Given the description of an element on the screen output the (x, y) to click on. 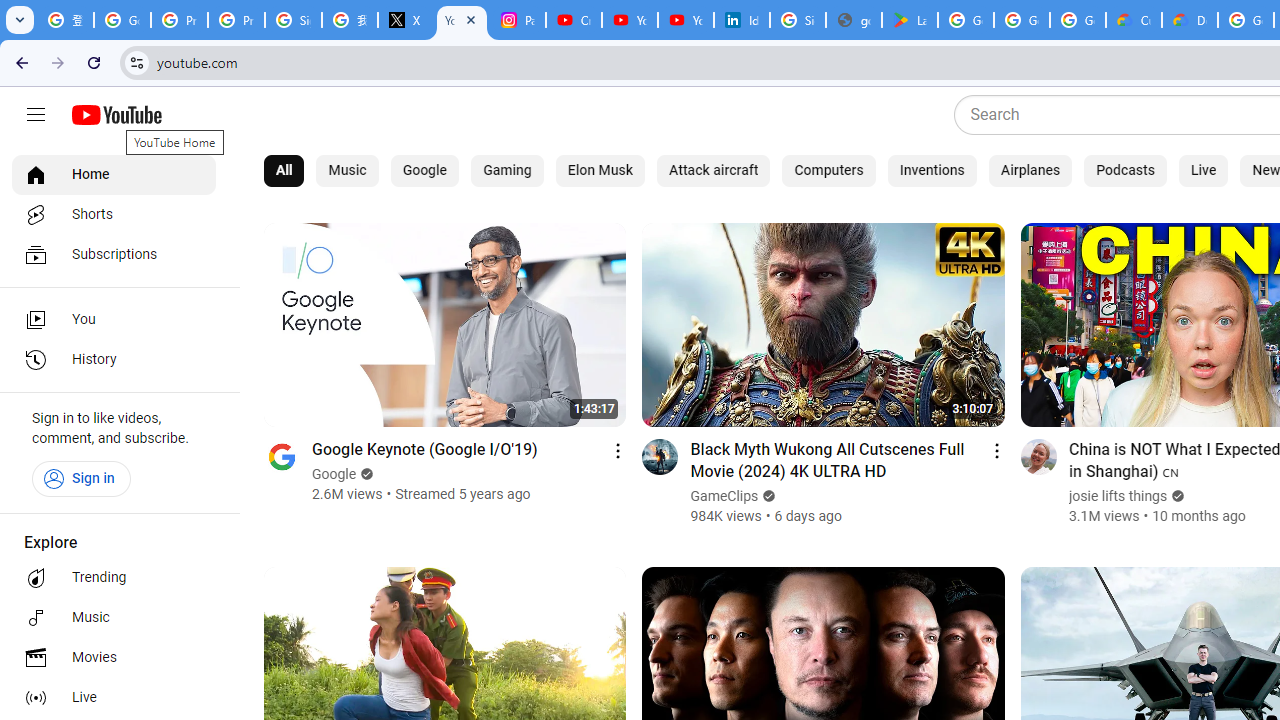
Last Shelter: Survival - Apps on Google Play (909, 20)
Shorts (113, 214)
Attack aircraft (713, 170)
YouTube Culture & Trends - YouTube Top 10, 2021 (685, 20)
Live (1202, 170)
Trending (113, 578)
Live (113, 697)
